Given the description of an element on the screen output the (x, y) to click on. 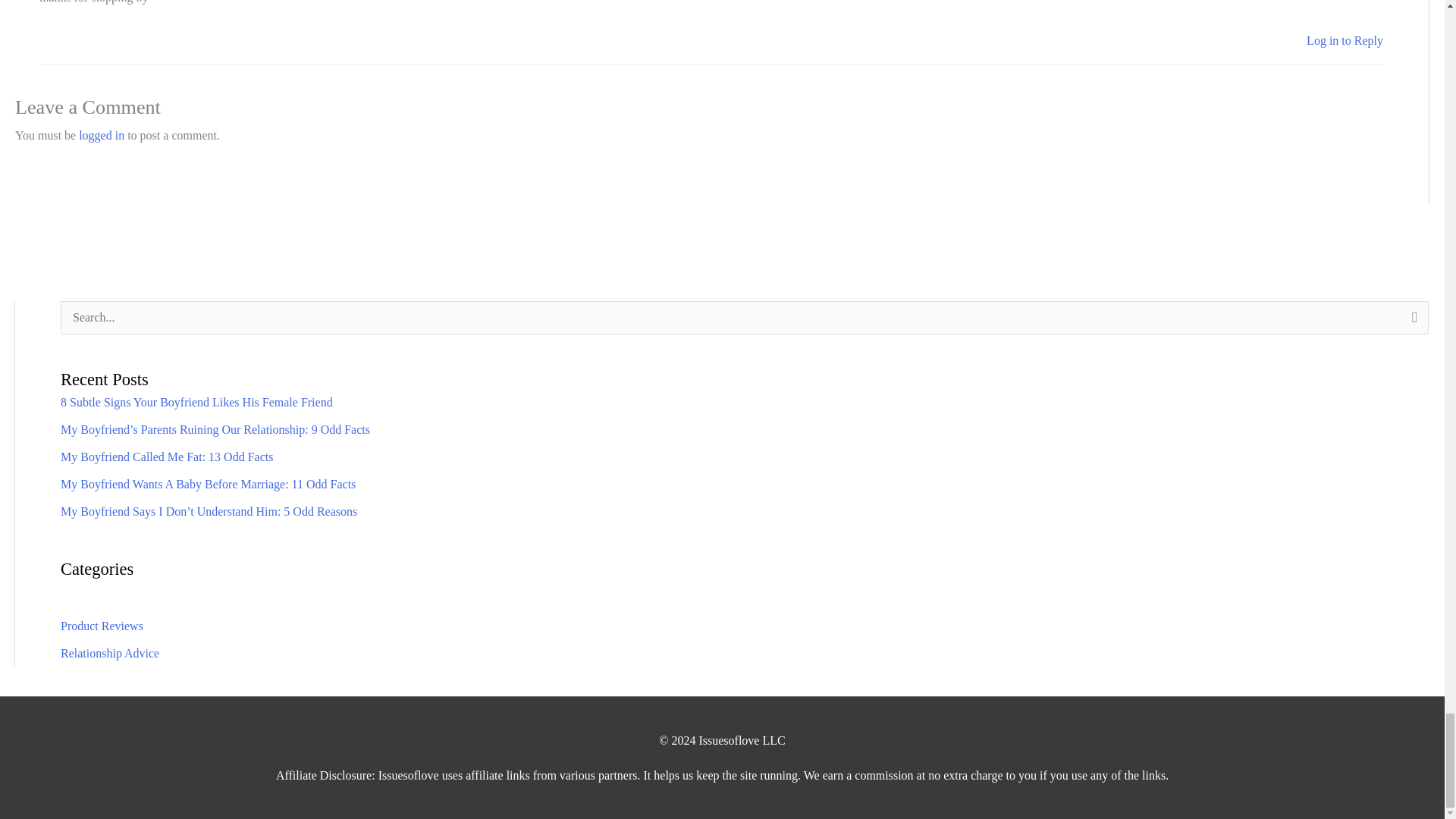
Relationship Advice (109, 653)
logged in (100, 134)
My Boyfriend Called Me Fat: 13 Odd Facts (167, 456)
Product Reviews (101, 625)
My Boyfriend Wants A Baby Before Marriage: 11 Odd Facts (208, 483)
8 Subtle Signs Your Boyfriend Likes His Female Friend (197, 401)
Log in to Reply (1344, 40)
